Given the description of an element on the screen output the (x, y) to click on. 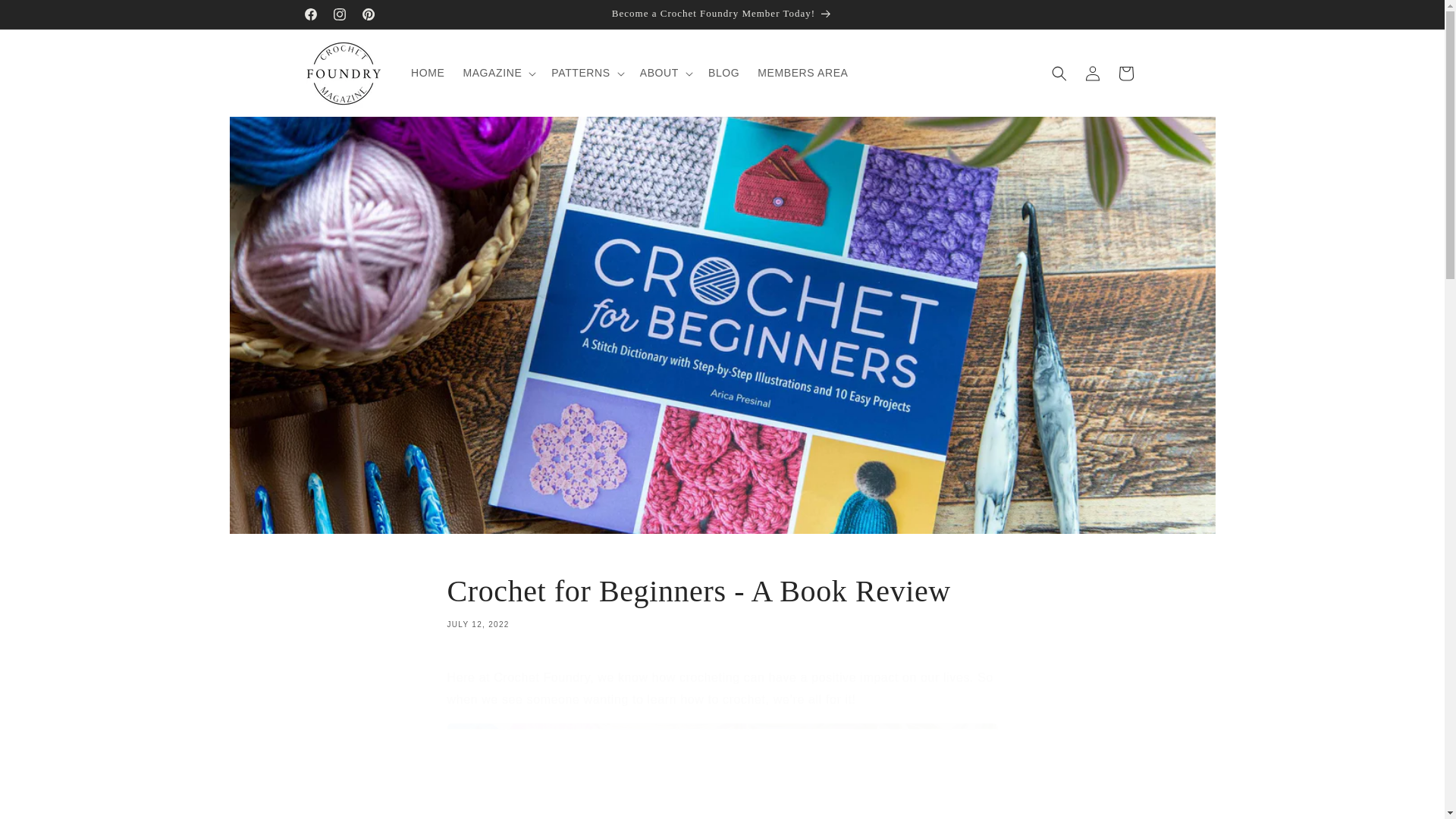
Pinterest (367, 14)
Instagram (338, 14)
HOME (426, 72)
Facebook (309, 14)
Skip to content (45, 17)
Become a Crochet Foundry Member Today! (721, 14)
